Given the description of an element on the screen output the (x, y) to click on. 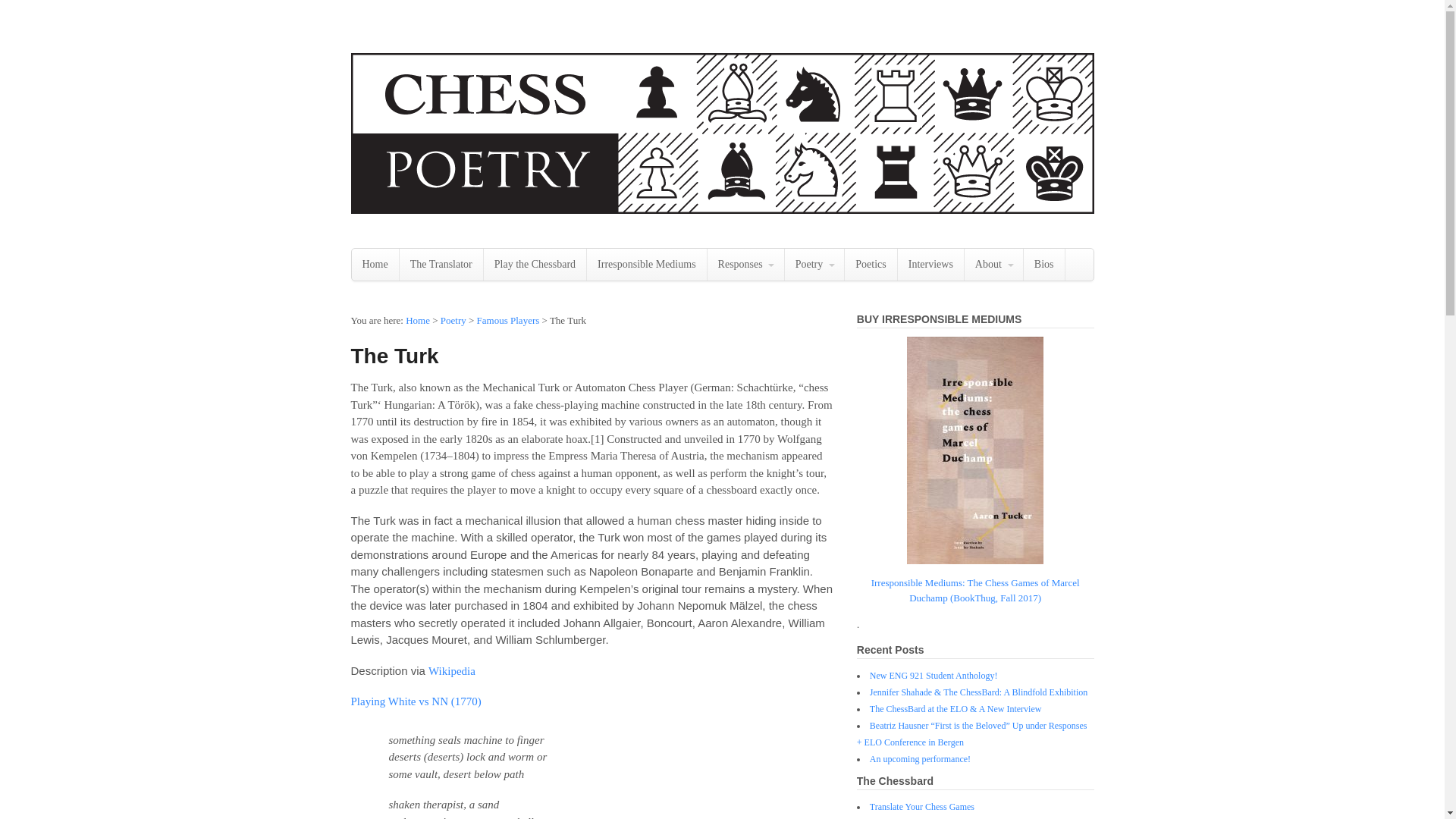
Poetry (453, 319)
Chess Poetry (417, 319)
Famous Players (508, 319)
Responses (745, 264)
Play the Chessbard (534, 264)
Poetry (814, 264)
The Translator (440, 264)
Home (375, 264)
Irresponsible Mediums (646, 264)
